Given the description of an element on the screen output the (x, y) to click on. 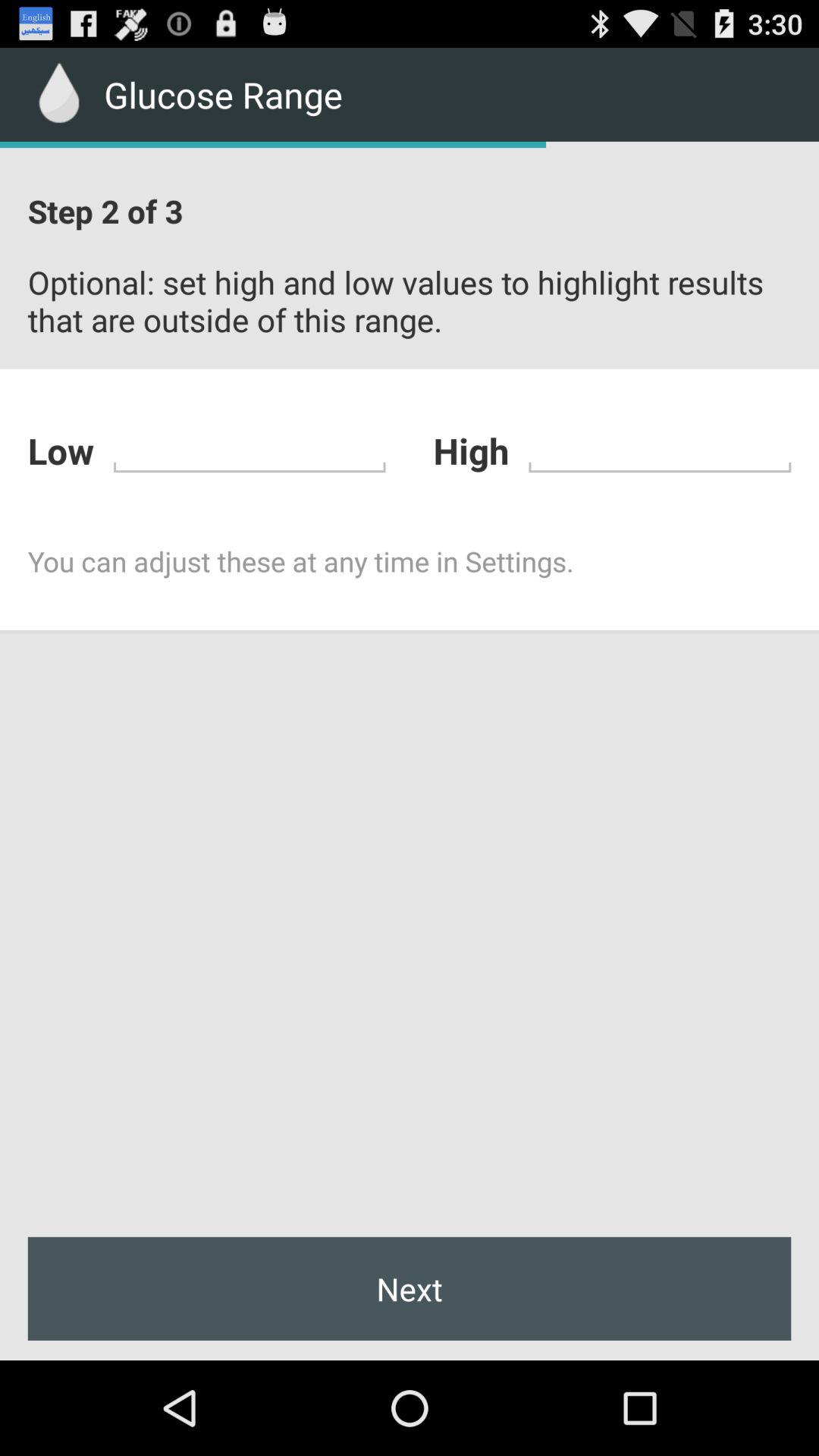
enter low value (249, 448)
